Given the description of an element on the screen output the (x, y) to click on. 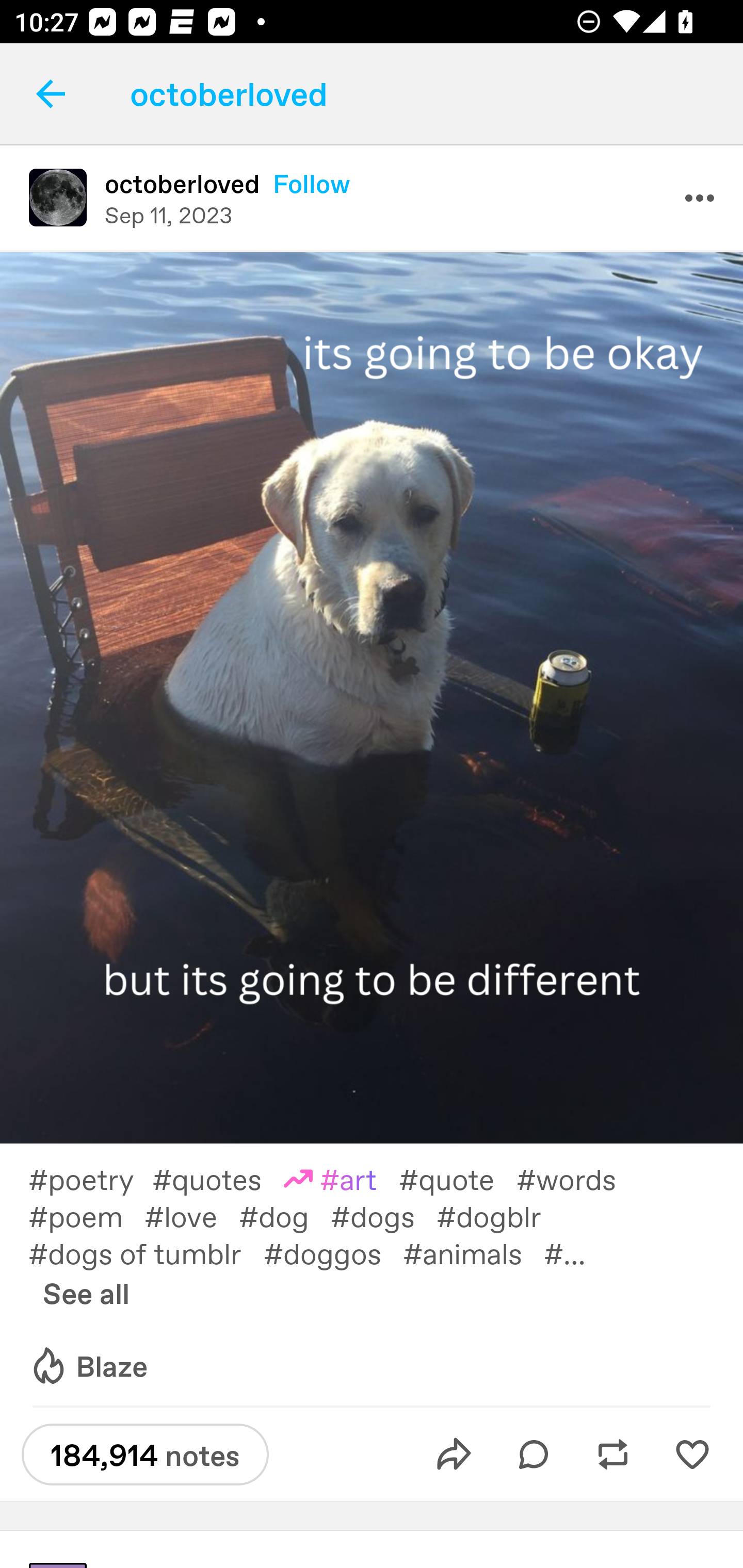
Navigate up (50, 93)
Follow (311, 183)
#poetry (90, 1178)
#quotes (217, 1178)
#art (340, 1178)
#quote (457, 1178)
#words (577, 1178)
#poem (86, 1215)
#love (191, 1215)
#dog (284, 1215)
#dogs (383, 1215)
#dogblr (499, 1215)
#dogs of tumblr (145, 1252)
#doggos (332, 1252)
#animals (472, 1252)
#… (575, 1252)
See all (86, 1292)
Blaze Blaze Blaze (88, 1366)
Share post to message (454, 1455)
Reply (533, 1455)
Reblog (612, 1455)
Like (691, 1455)
184,914 notes (144, 1453)
